Given the description of an element on the screen output the (x, y) to click on. 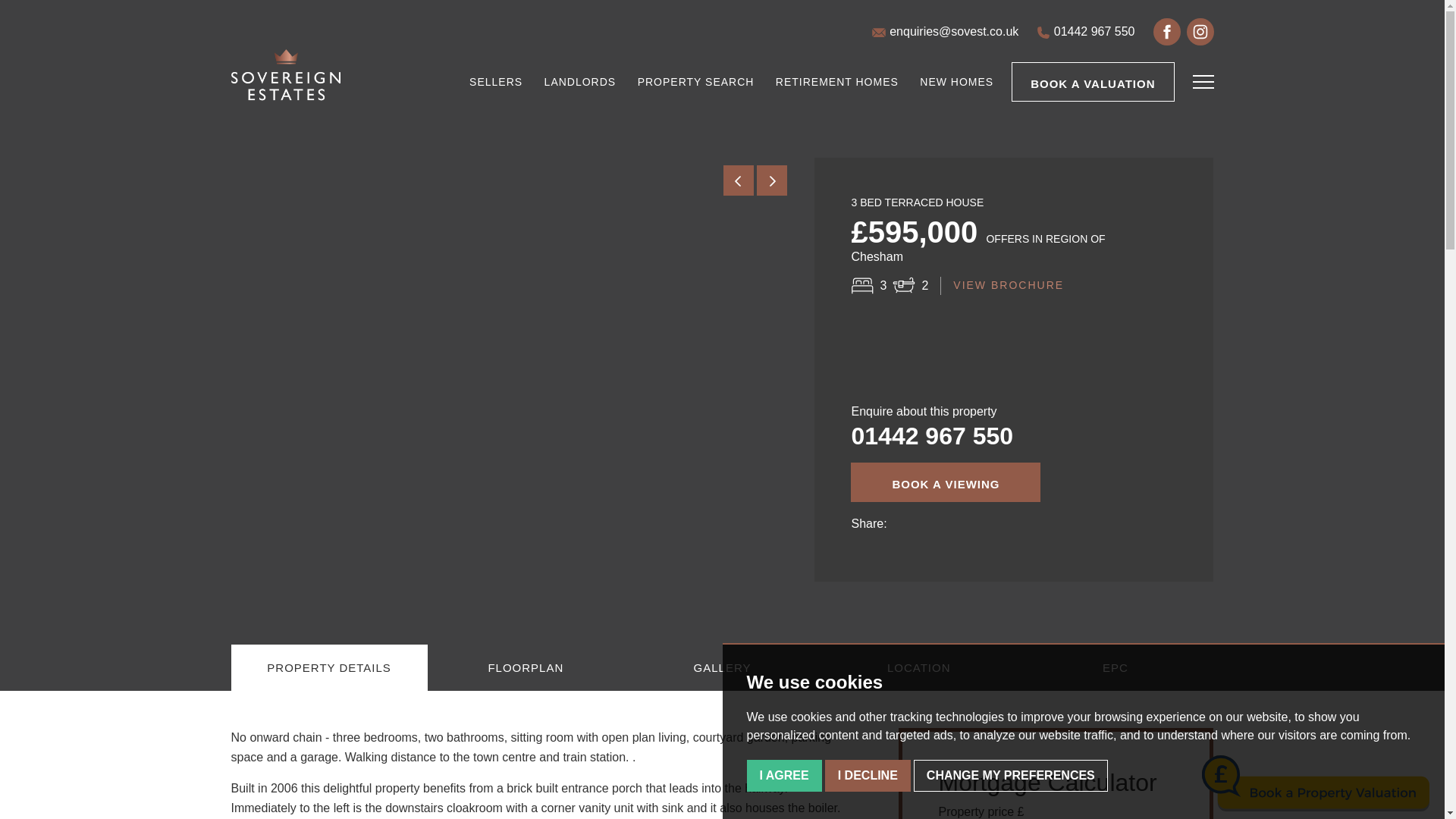
I AGREE (783, 775)
RETIREMENT HOMES (837, 81)
EPC (1114, 668)
BOOK A VALUATION (1092, 81)
NEW HOMES (956, 81)
01442 967 550 (1085, 31)
01442 967 550 (931, 435)
BOOK A VIEWING (945, 482)
LOCATION (918, 668)
VIEW BROCHURE (1008, 285)
PROPERTY SEARCH (695, 81)
CHANGE MY PREFERENCES (1011, 775)
GALLERY (722, 668)
PROPERTY DETAILS (328, 668)
FLOORPLAN (526, 668)
